Given the description of an element on the screen output the (x, y) to click on. 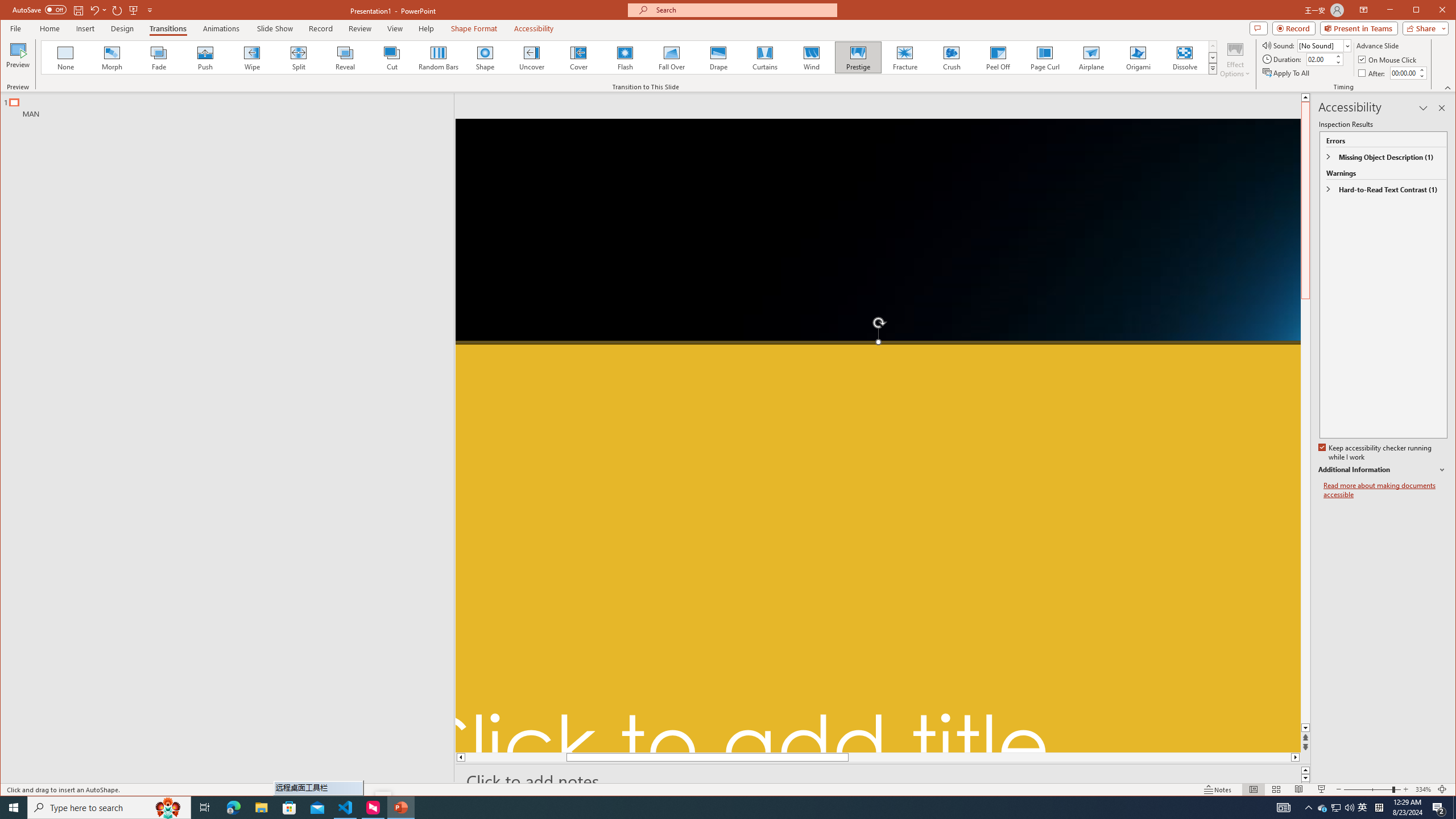
Outline (231, 104)
Visual Studio Code - 1 running window (345, 807)
AutomationID: AnimationTransitionGallery (629, 57)
Rectangle (221, 436)
Task Pane Options (1422, 107)
Zoom (1371, 789)
Apply To All (1286, 72)
Prestige (857, 57)
Cut (391, 57)
Origami (1138, 57)
Read more about making documents accessible (1385, 489)
View (395, 28)
Close pane (1441, 107)
Q2790: 100% (1349, 807)
